Given the description of an element on the screen output the (x, y) to click on. 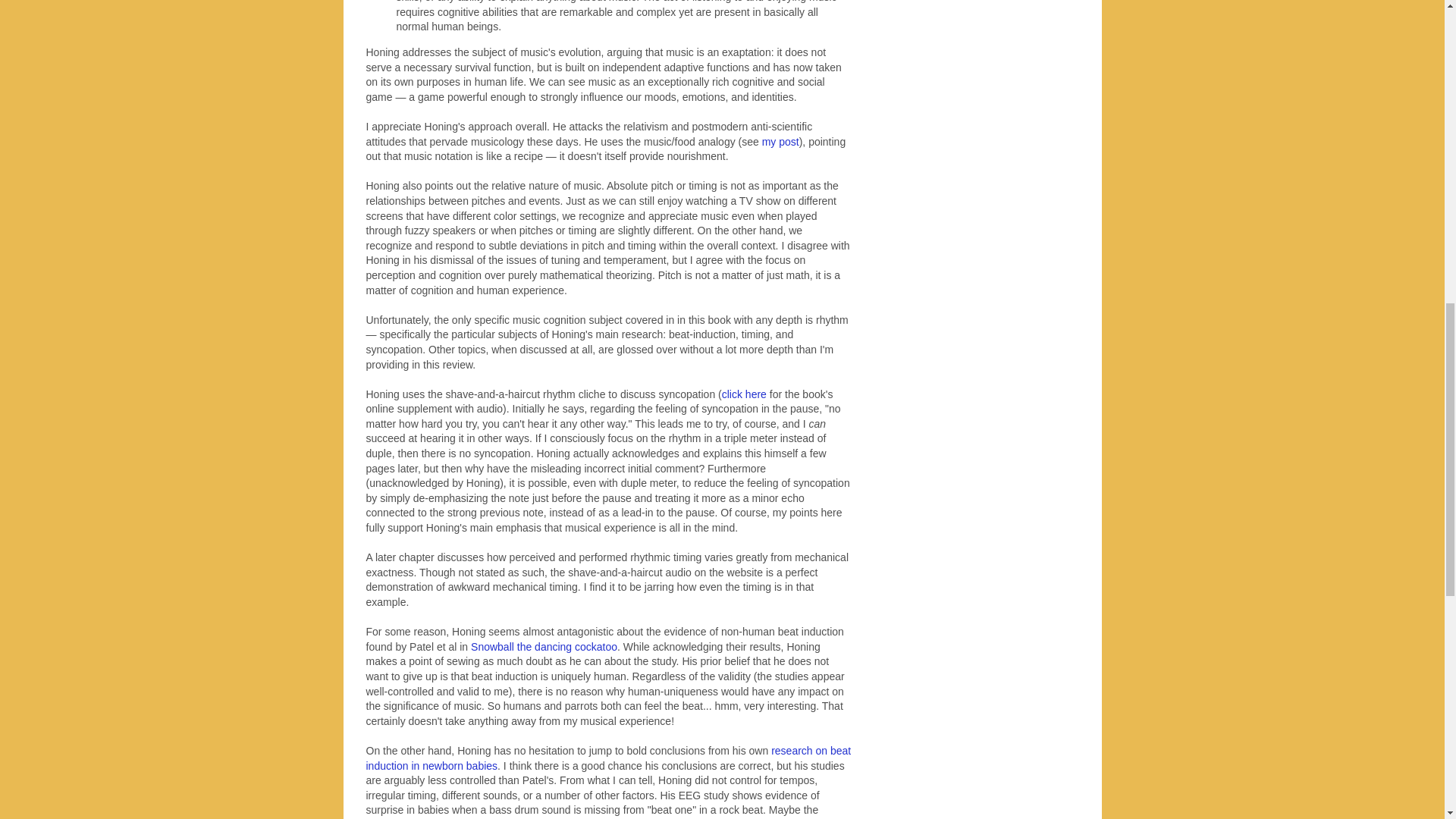
my post (780, 141)
Snowball the dancing cockatoo (543, 646)
research on beat induction in newborn babies (607, 758)
click here (744, 394)
